Given the description of an element on the screen output the (x, y) to click on. 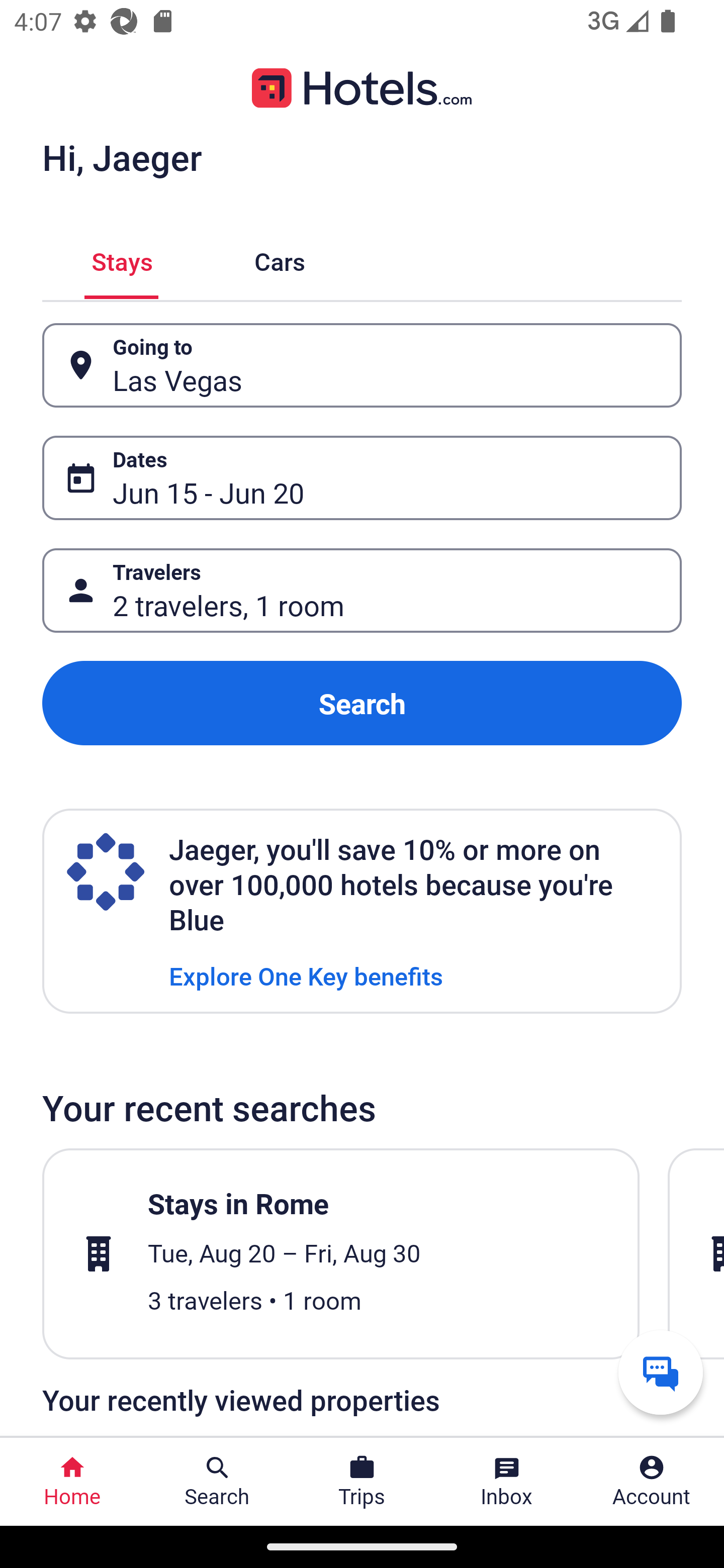
Hi, Jaeger (121, 156)
Cars (279, 259)
Going to Button Las Vegas (361, 365)
Dates Button Jun 15 - Jun 20 (361, 477)
Travelers Button 2 travelers, 1 room (361, 590)
Search (361, 702)
Get help from a virtual agent (660, 1371)
Search Search Button (216, 1481)
Trips Trips Button (361, 1481)
Inbox Inbox Button (506, 1481)
Account Profile. Button (651, 1481)
